Given the description of an element on the screen output the (x, y) to click on. 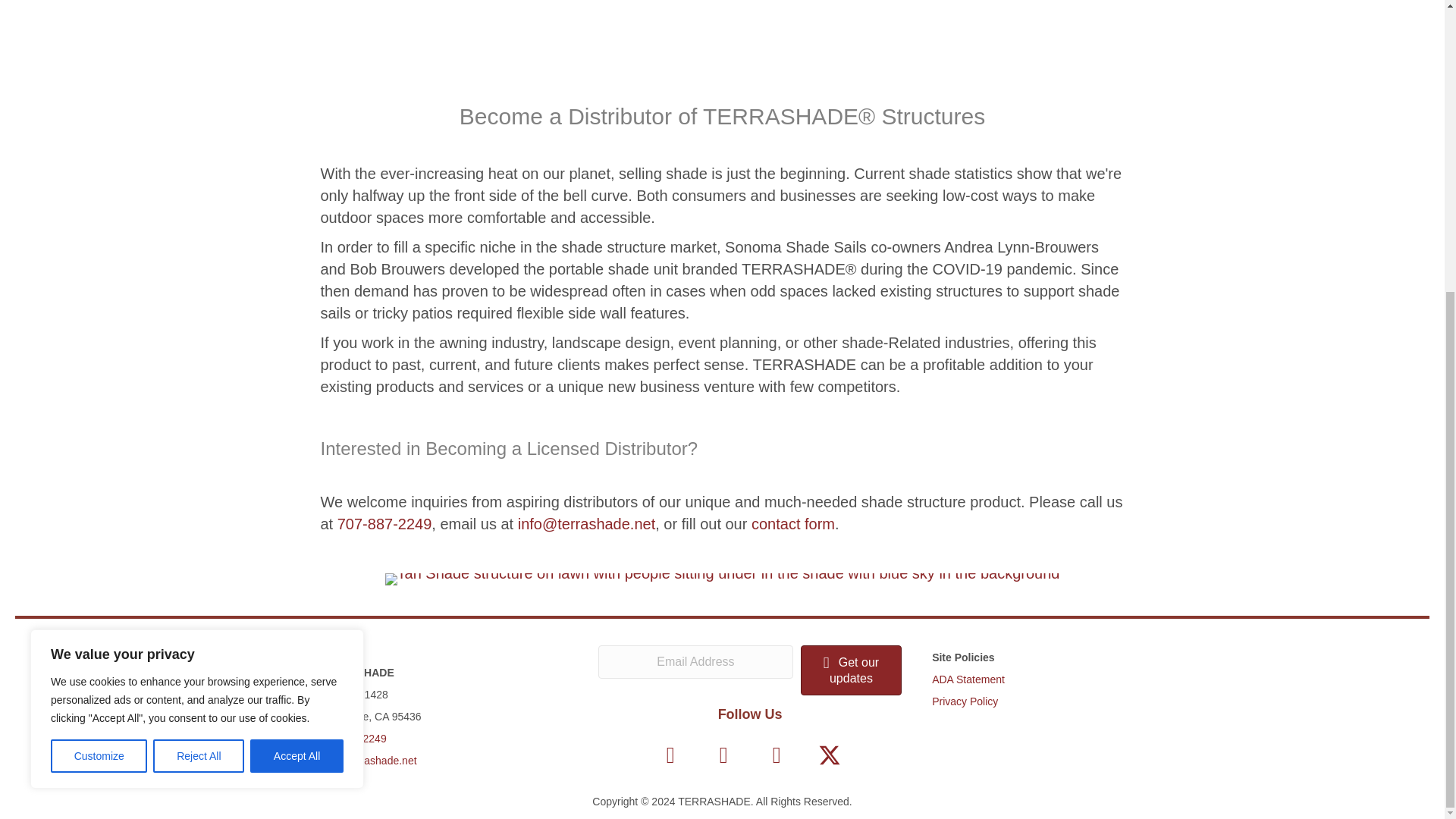
707-887-2249 (384, 523)
contact form (792, 523)
Reject All (198, 309)
ADA Statement (967, 679)
707-887-2249 (352, 738)
Instagram (722, 755)
Get our updates (850, 670)
Growing-Shade-pic-from-ATA-w (722, 579)
Accept All (296, 309)
Customize (98, 309)
